Given the description of an element on the screen output the (x, y) to click on. 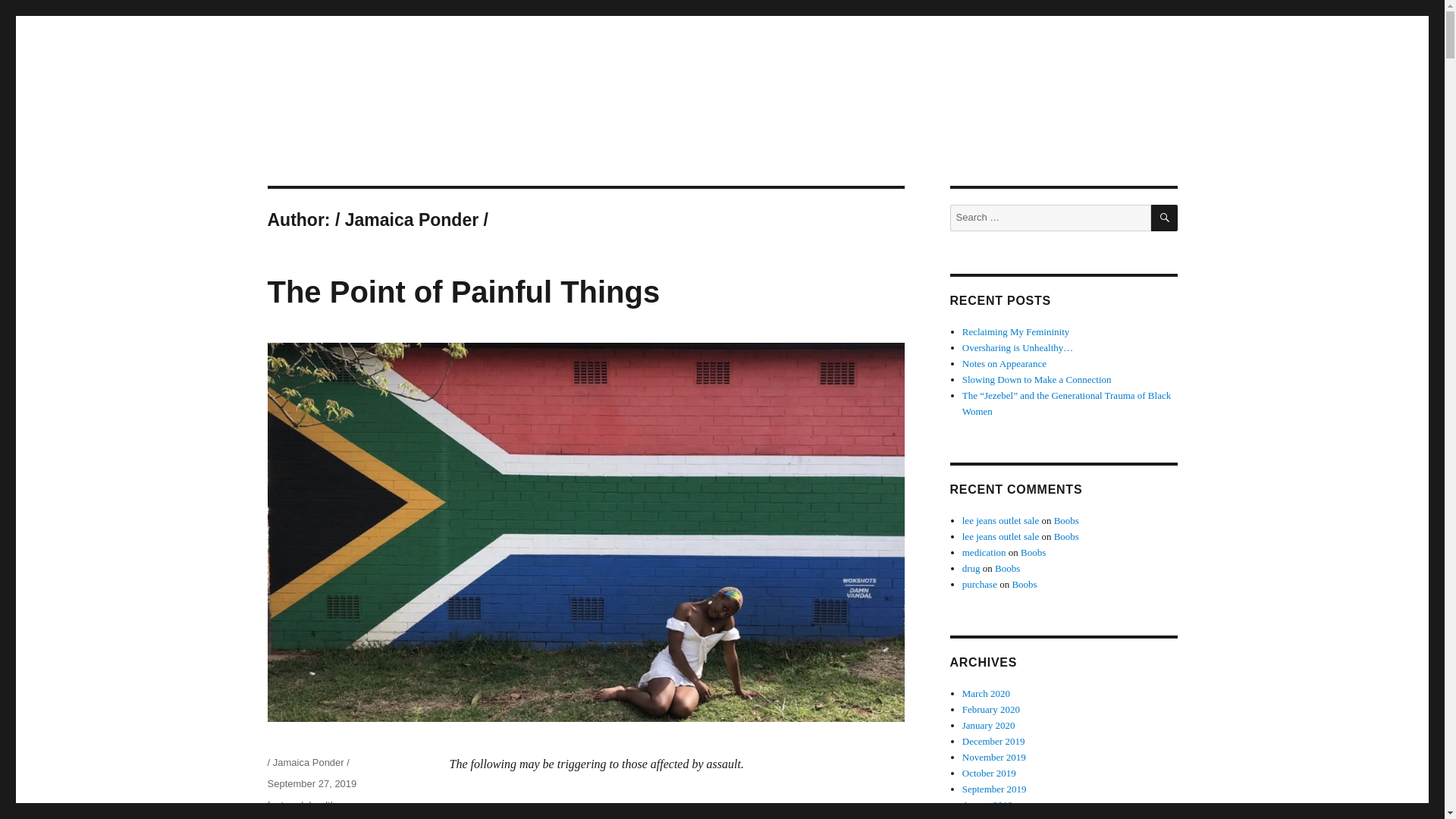
featured (284, 804)
health (321, 804)
September 27, 2019 (311, 783)
The Point of Painful Things (462, 291)
